Given the description of an element on the screen output the (x, y) to click on. 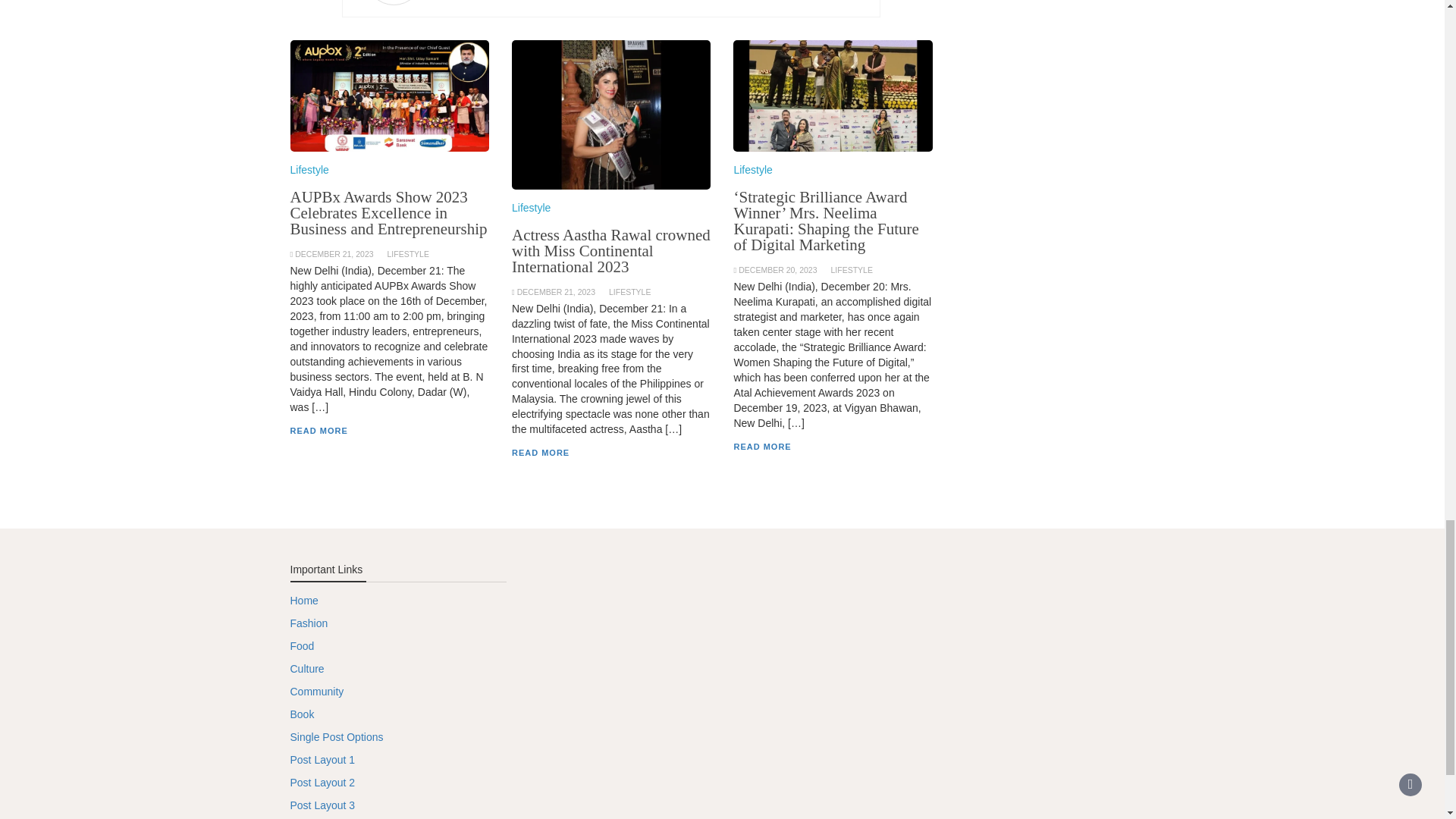
Lifestyle (531, 207)
Lifestyle (309, 169)
DECEMBER 21, 2023 (333, 253)
DECEMBER 20, 2023 (777, 269)
DECEMBER 21, 2023 (555, 291)
READ MORE (761, 446)
Lifestyle (752, 169)
LIFESTYLE (850, 269)
READ MORE (540, 452)
LIFESTYLE (629, 291)
READ MORE (318, 429)
LIFESTYLE (407, 253)
